Given the description of an element on the screen output the (x, y) to click on. 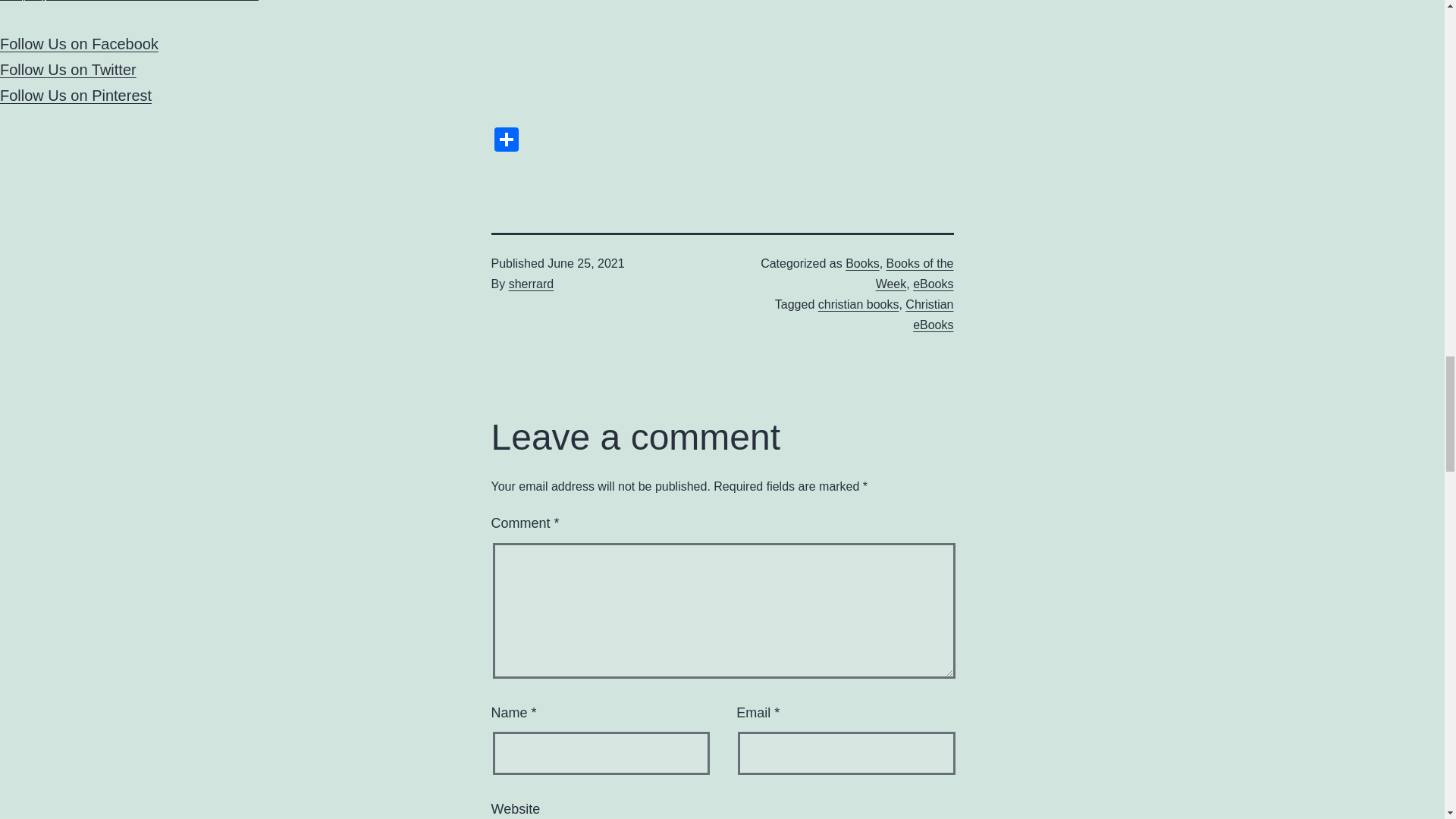
sherrard (531, 283)
eBooks (932, 283)
Follow Us on Pinterest (75, 95)
Books of the Week (914, 273)
Follow Us on Facebook (79, 44)
christian books (858, 304)
Books (862, 263)
Follow Us on Twitter (68, 69)
Christian eBooks (929, 314)
